Given the description of an element on the screen output the (x, y) to click on. 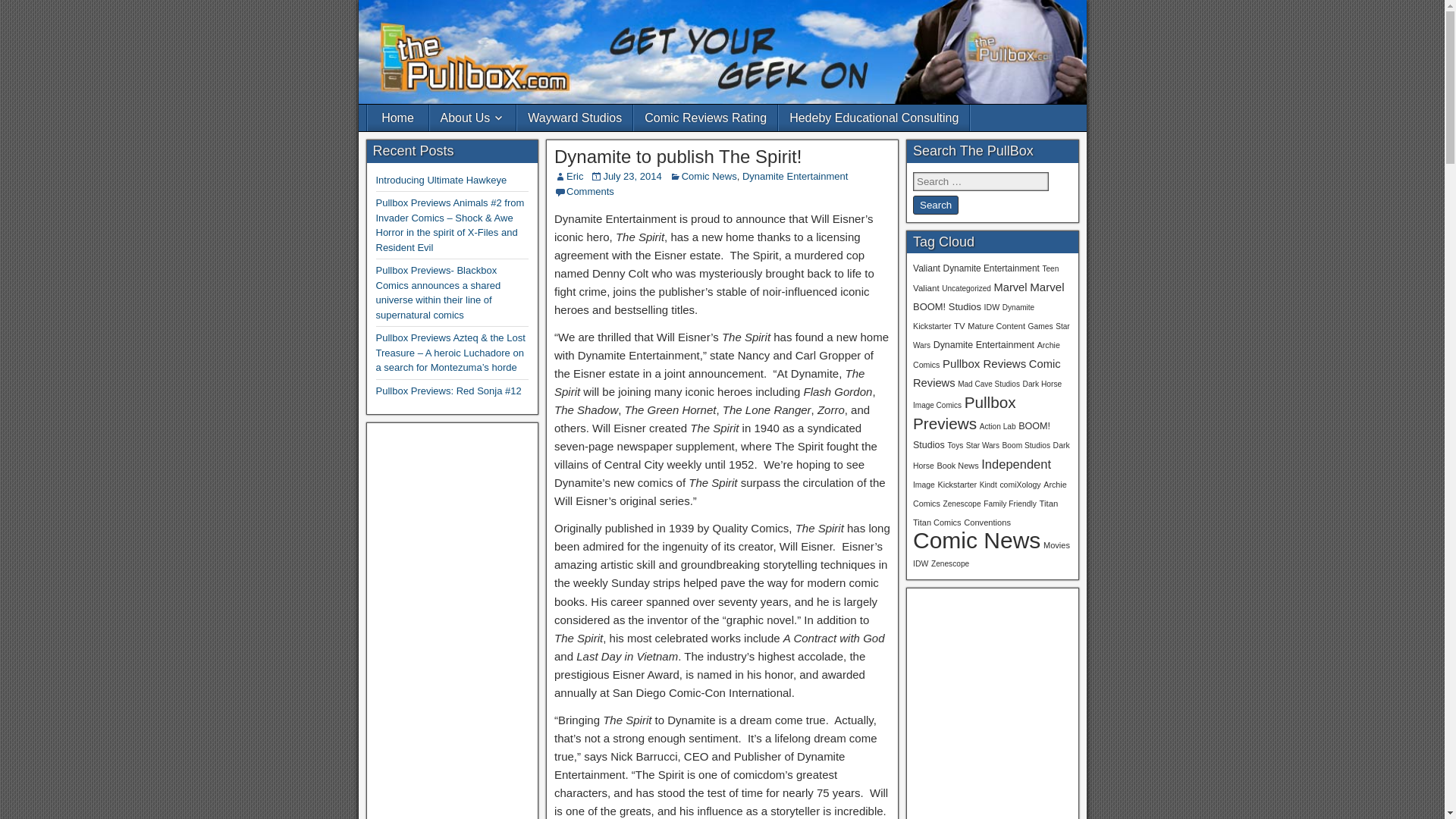
Search (935, 204)
Dynamite Entertainment (794, 175)
Search (935, 204)
Wayward Studios (573, 117)
July 23, 2014 (631, 175)
Comic News (708, 175)
Search (935, 204)
Home (397, 117)
Dynamite to publish The Spirit! (678, 156)
Comic Reviews Rating (705, 117)
About Us (472, 117)
Hedeby Educational Consulting (873, 117)
Comments (590, 191)
Eric (574, 175)
Introducing Ultimate Hawkeye (440, 179)
